Given the description of an element on the screen output the (x, y) to click on. 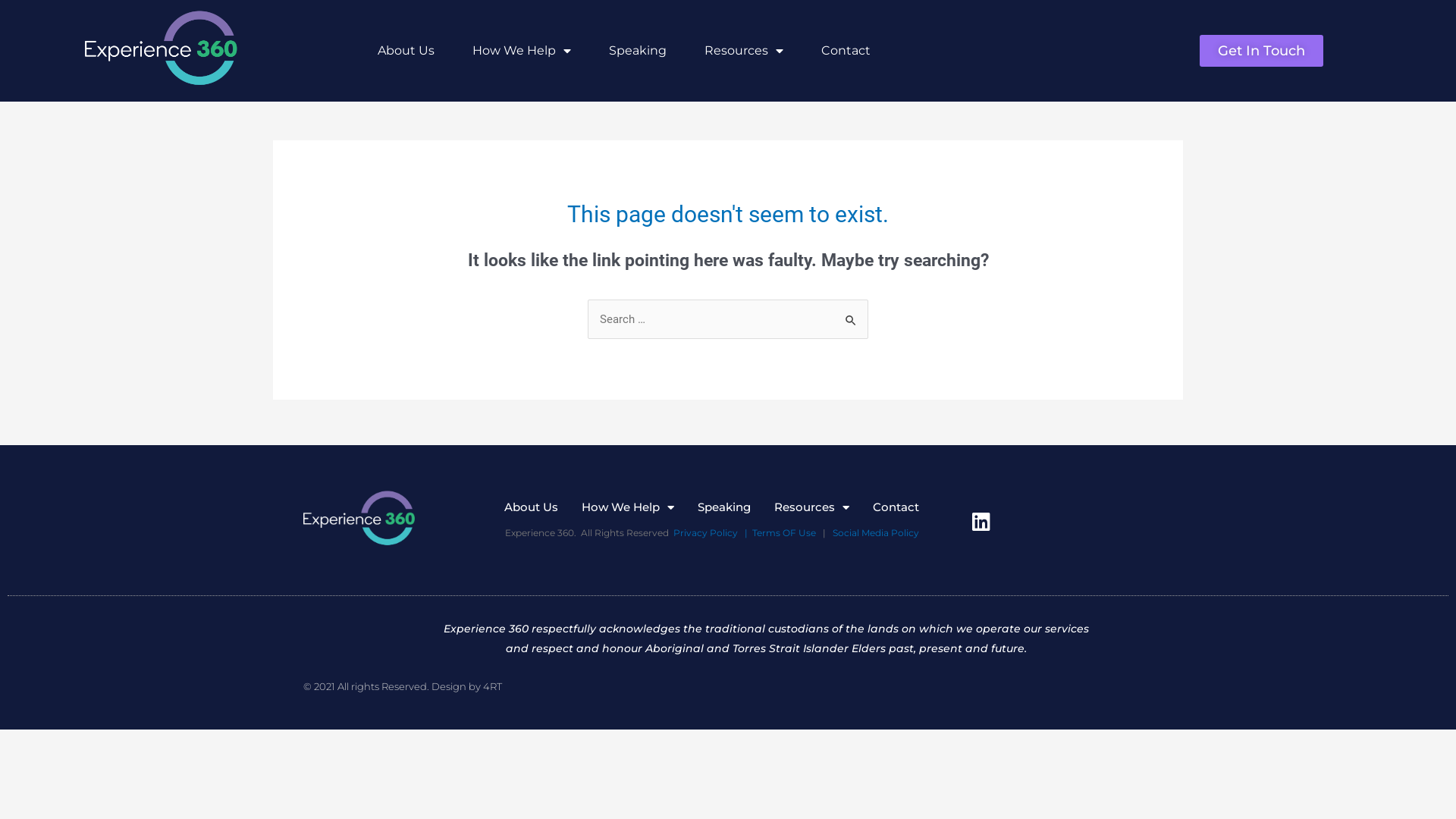
Get In Touch Element type: text (1261, 50)
Social Media Policy Element type: text (875, 532)
Resources Element type: text (743, 50)
About Us Element type: text (405, 50)
Speaking Element type: text (723, 506)
Contact Element type: text (895, 506)
How We Help Element type: text (521, 50)
Terms OF Use Element type: text (783, 532)
Privacy Policy   |  Element type: text (711, 532)
Speaking Element type: text (637, 50)
4RT Element type: text (492, 686)
Search Element type: text (851, 314)
Resources Element type: text (811, 506)
About Us Element type: text (531, 506)
Contact Element type: text (845, 50)
How We Help Element type: text (627, 506)
